Given the description of an element on the screen output the (x, y) to click on. 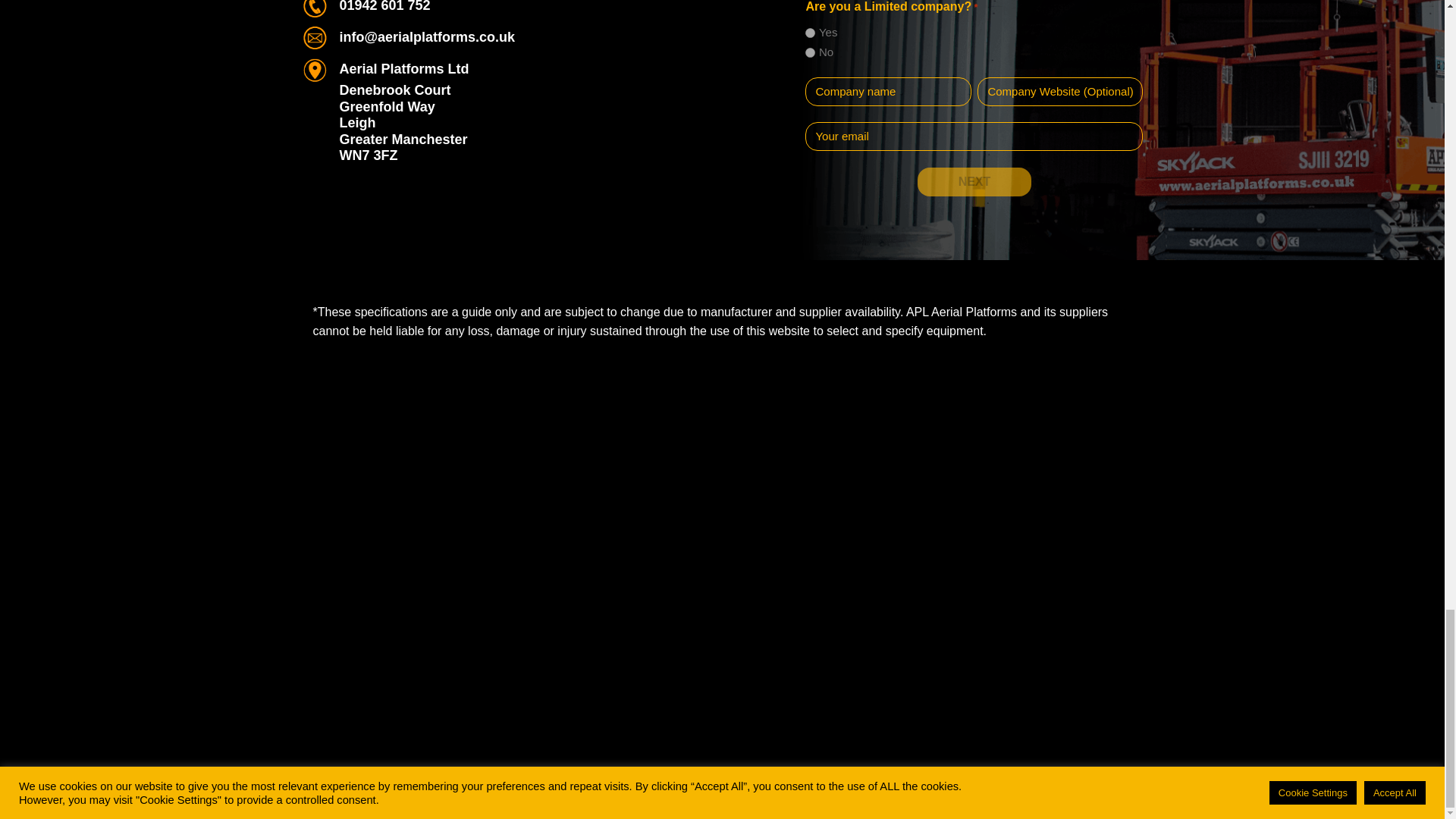
No (810, 52)
Next (973, 181)
Yes (810, 32)
